Given the description of an element on the screen output the (x, y) to click on. 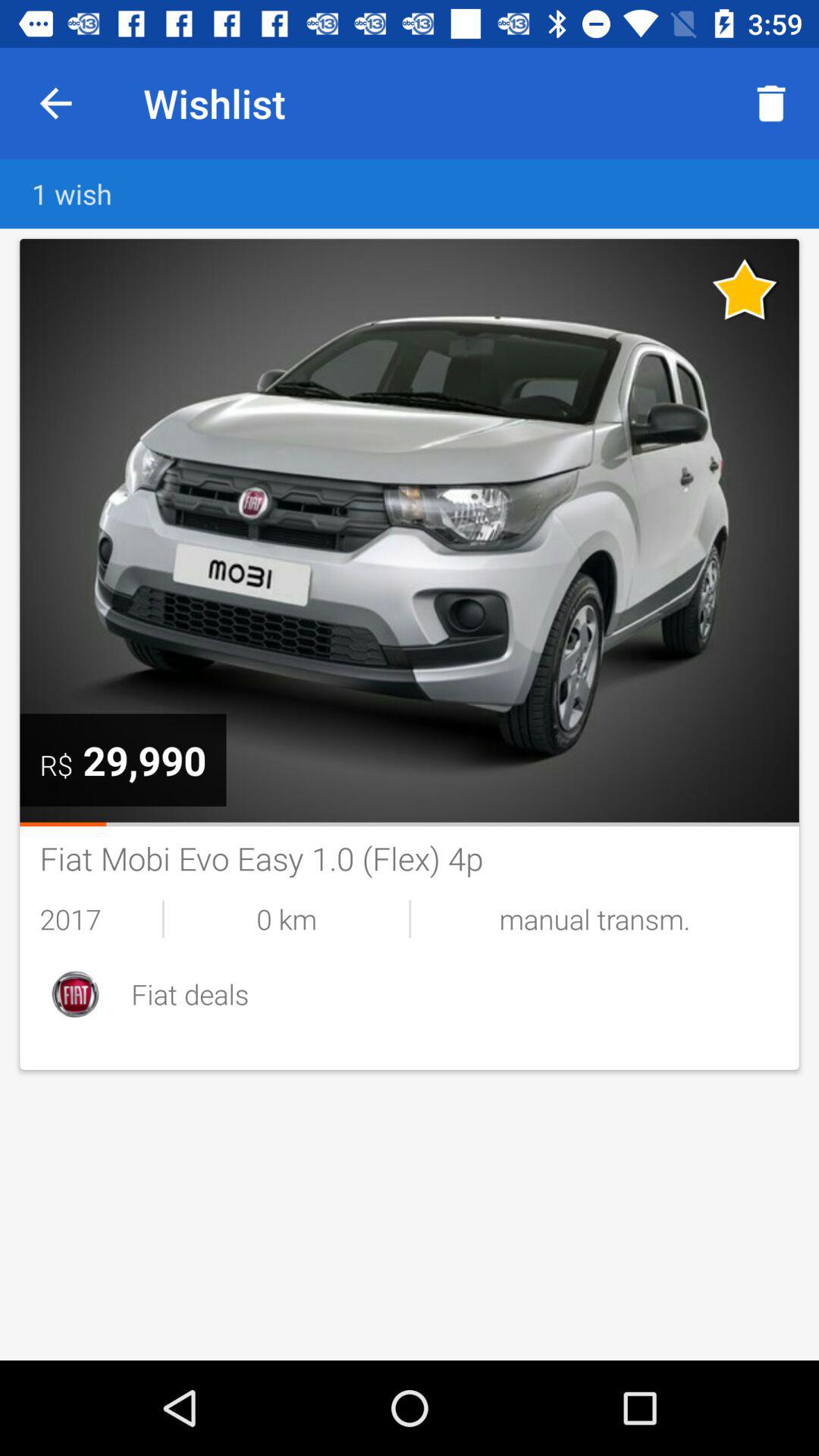
add to favorites (745, 288)
